Given the description of an element on the screen output the (x, y) to click on. 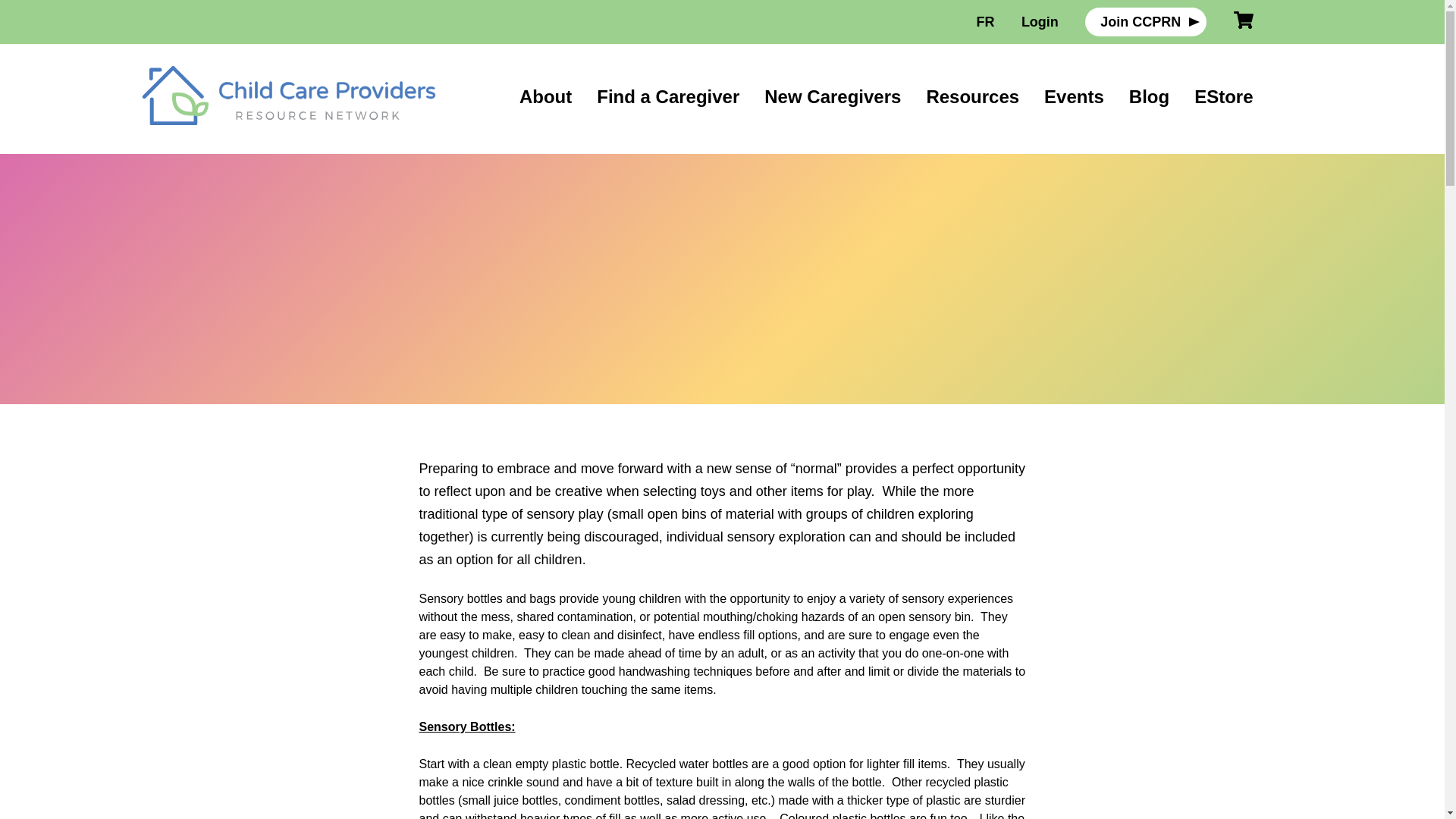
New Caregivers (832, 96)
EStore (1222, 96)
Resources (972, 96)
Sign Up (716, 610)
Blog (1149, 96)
Login (1040, 21)
About (545, 96)
Events (1073, 96)
FR (985, 21)
Find a Caregiver (667, 96)
Join CCPRN (1145, 21)
